Given the description of an element on the screen output the (x, y) to click on. 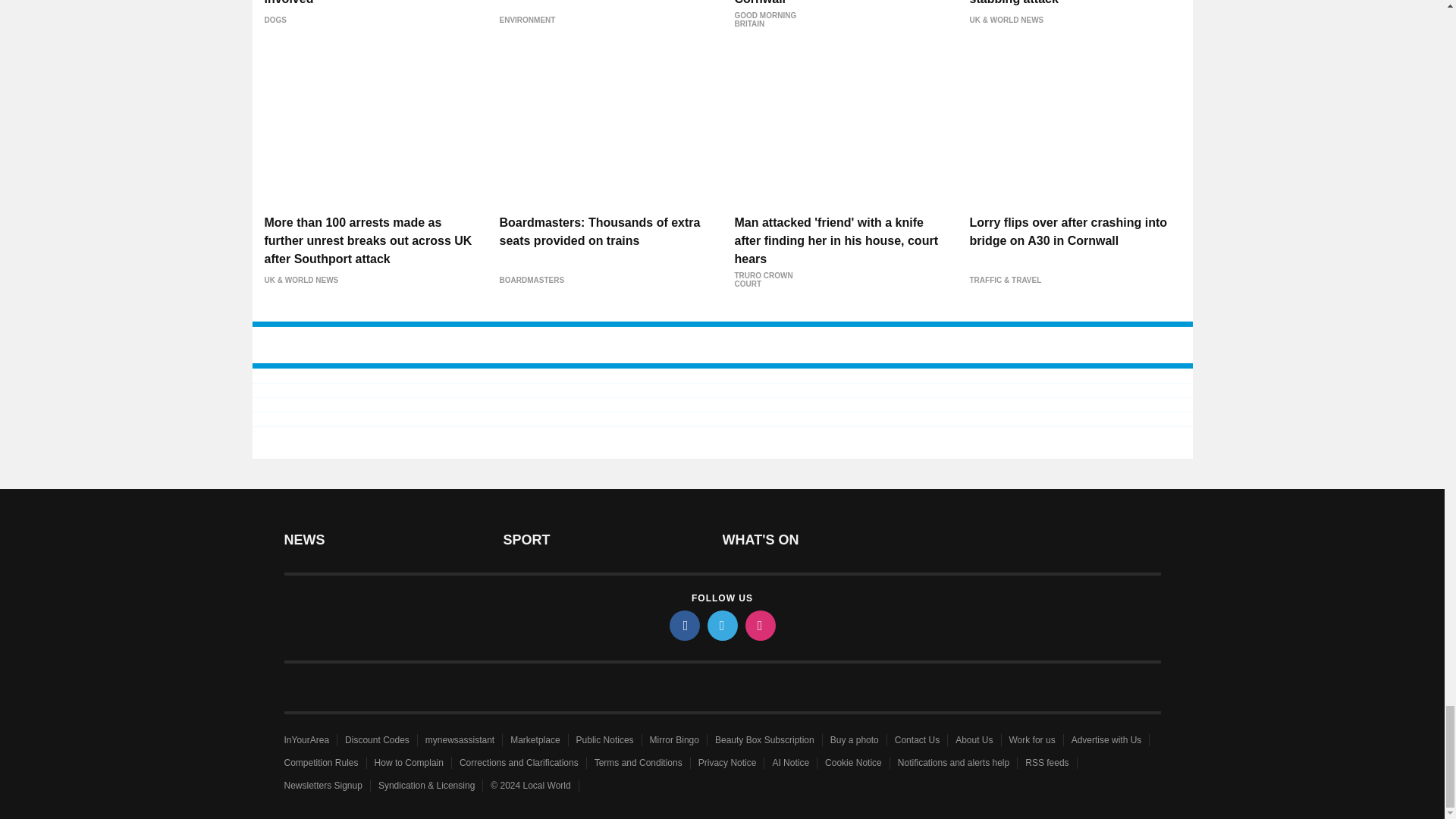
twitter (721, 625)
facebook (683, 625)
instagram (759, 625)
